Given the description of an element on the screen output the (x, y) to click on. 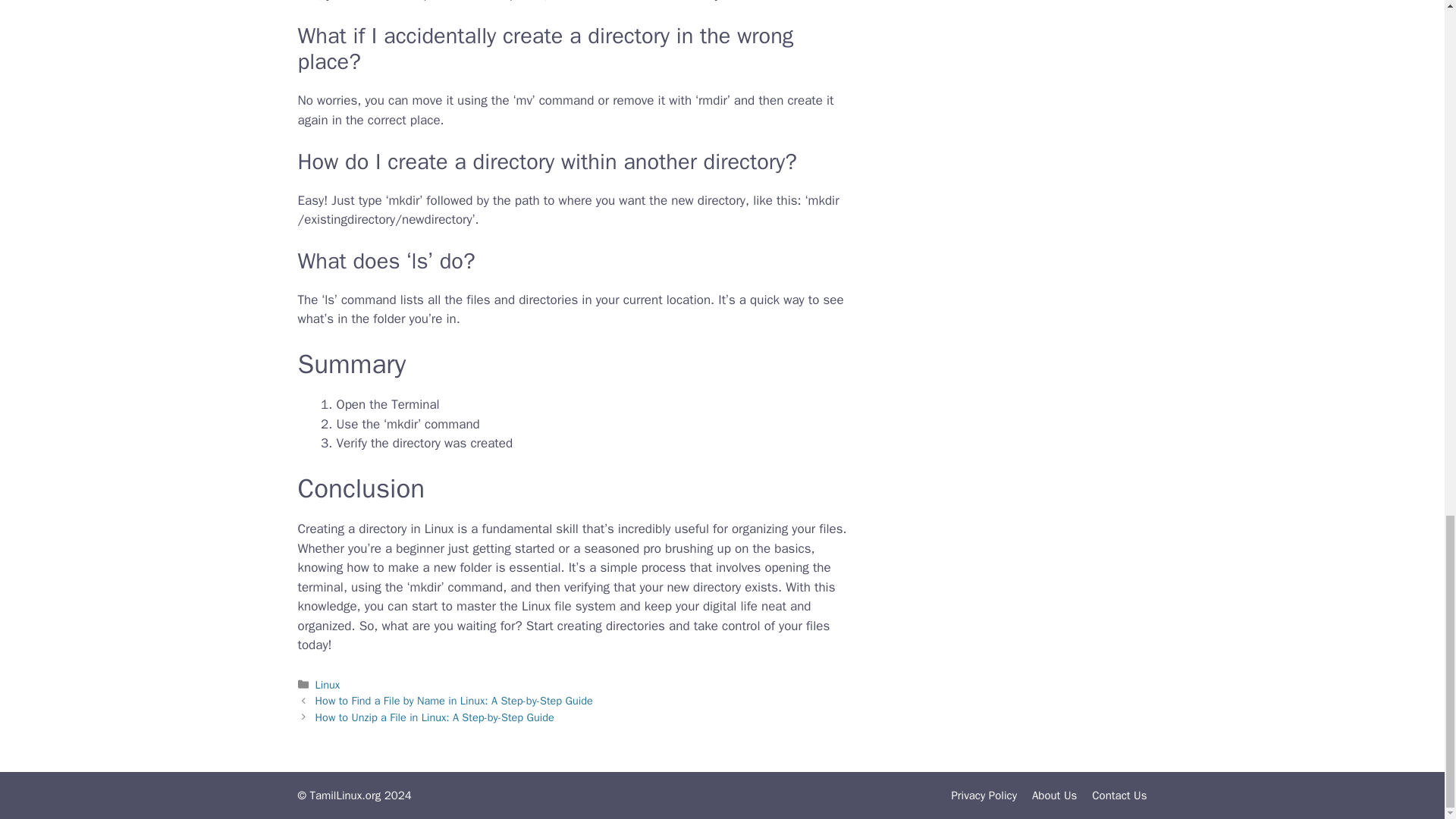
How to Unzip a File in Linux: A Step-by-Step Guide (434, 716)
About Us (1054, 795)
Privacy Policy (983, 795)
Linux (327, 684)
Contact Us (1119, 795)
How to Find a File by Name in Linux: A Step-by-Step Guide (453, 700)
